Given the description of an element on the screen output the (x, y) to click on. 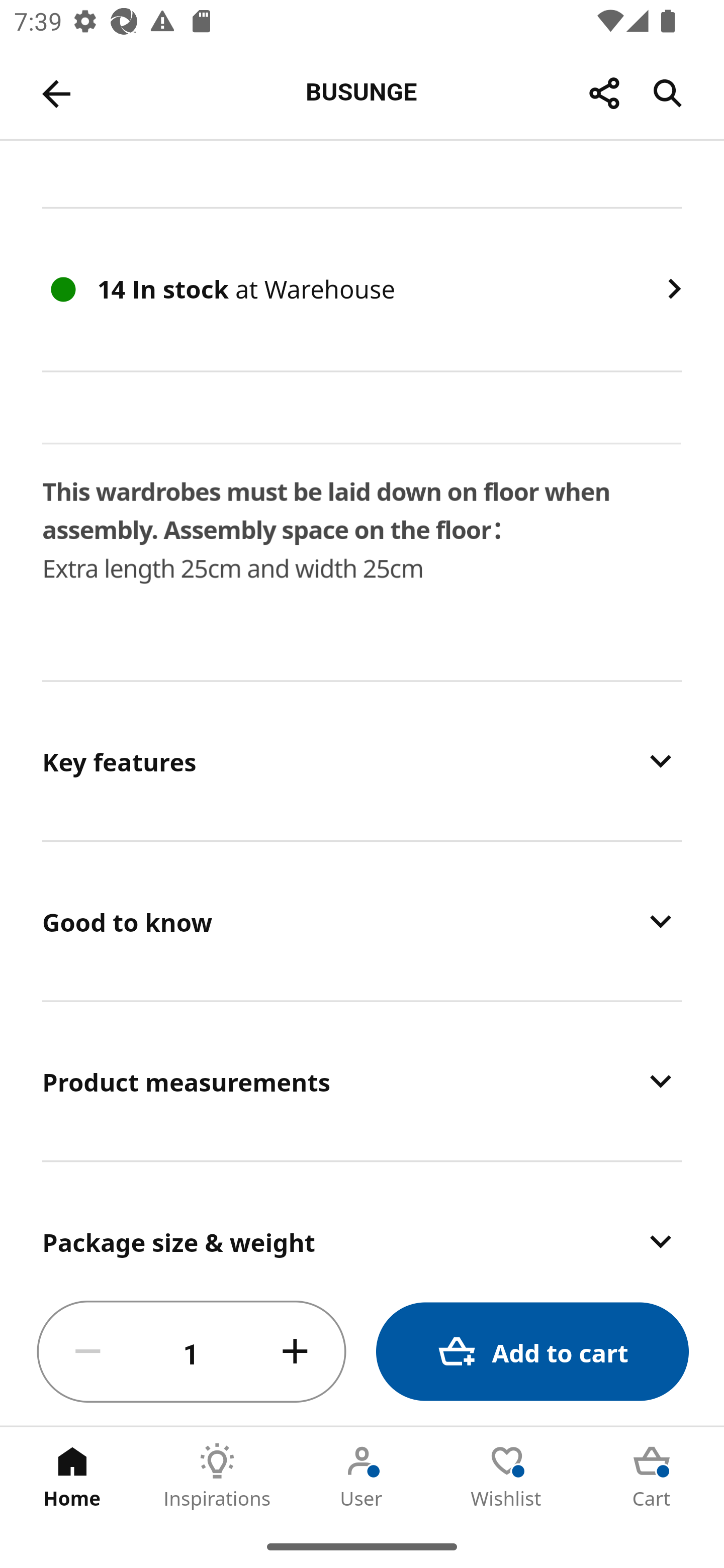
14 In stock at Warehouse (361, 289)
Key features (361, 760)
Good to know (361, 920)
Product measurements (361, 1080)
Package size & weight (361, 1220)
Add to cart (531, 1352)
1 (191, 1352)
Home
Tab 1 of 5 (72, 1476)
Inspirations
Tab 2 of 5 (216, 1476)
User
Tab 3 of 5 (361, 1476)
Wishlist
Tab 4 of 5 (506, 1476)
Cart
Tab 5 of 5 (651, 1476)
